Given the description of an element on the screen output the (x, y) to click on. 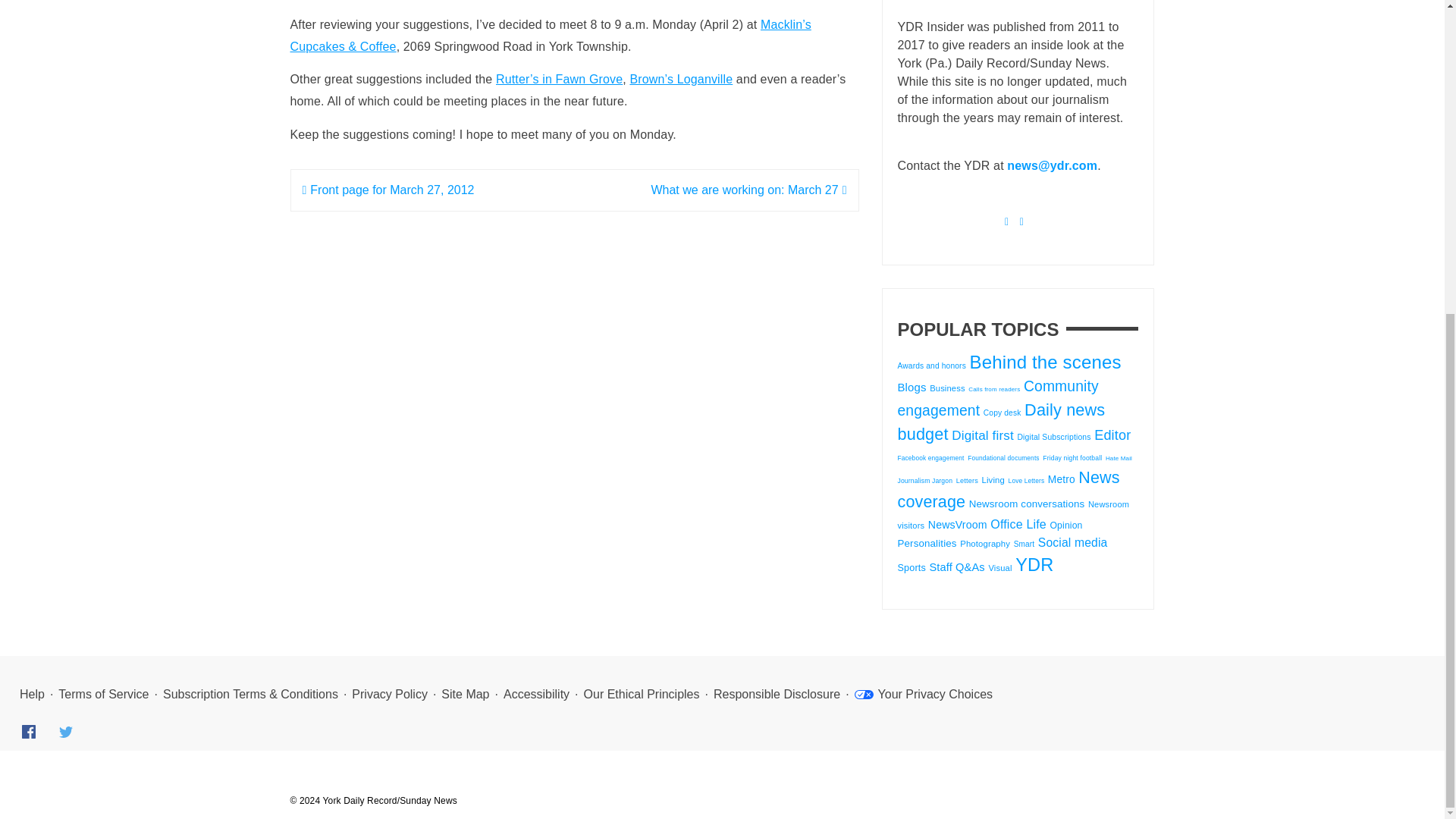
Daily news budget (1001, 422)
Digital Subscriptions (1053, 437)
Foundational documents (1003, 457)
Journalism Jargon (925, 480)
Blogs (912, 386)
Friday night football (1072, 457)
Digital first (982, 435)
Behind the scenes (1045, 362)
What we are working on: March 27 (747, 189)
Living (992, 479)
